Given the description of an element on the screen output the (x, y) to click on. 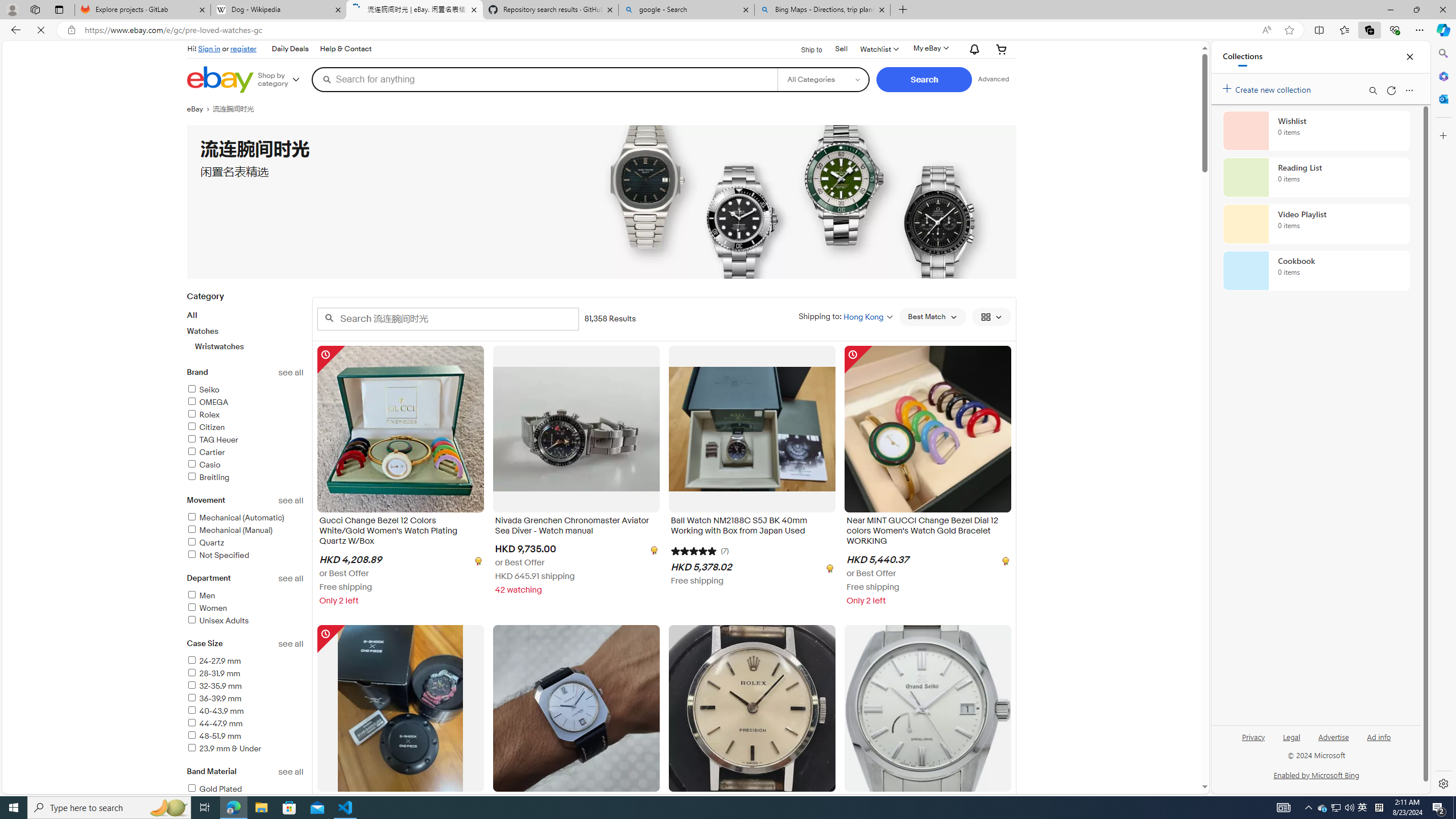
Help & Contact (345, 49)
Your shopping cart (1001, 48)
Ad info (1378, 736)
5 out of 5 stars (693, 550)
Privacy (1253, 736)
Advertise (1333, 741)
My eBay (930, 47)
Sell (841, 49)
Daily Deals (290, 49)
Help & Contact (345, 49)
